Given the description of an element on the screen output the (x, y) to click on. 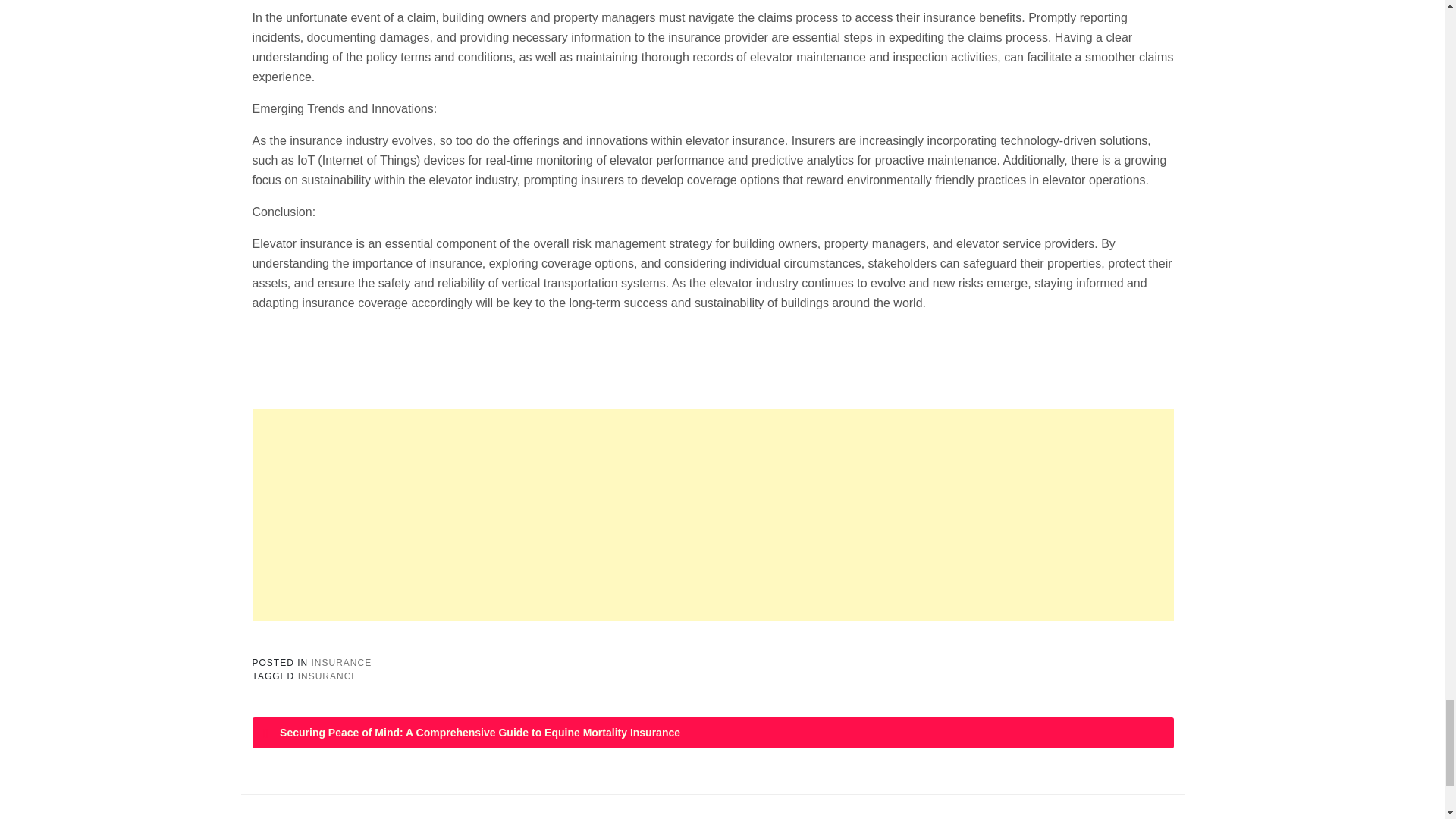
INSURANCE (328, 675)
INSURANCE (341, 662)
